Given the description of an element on the screen output the (x, y) to click on. 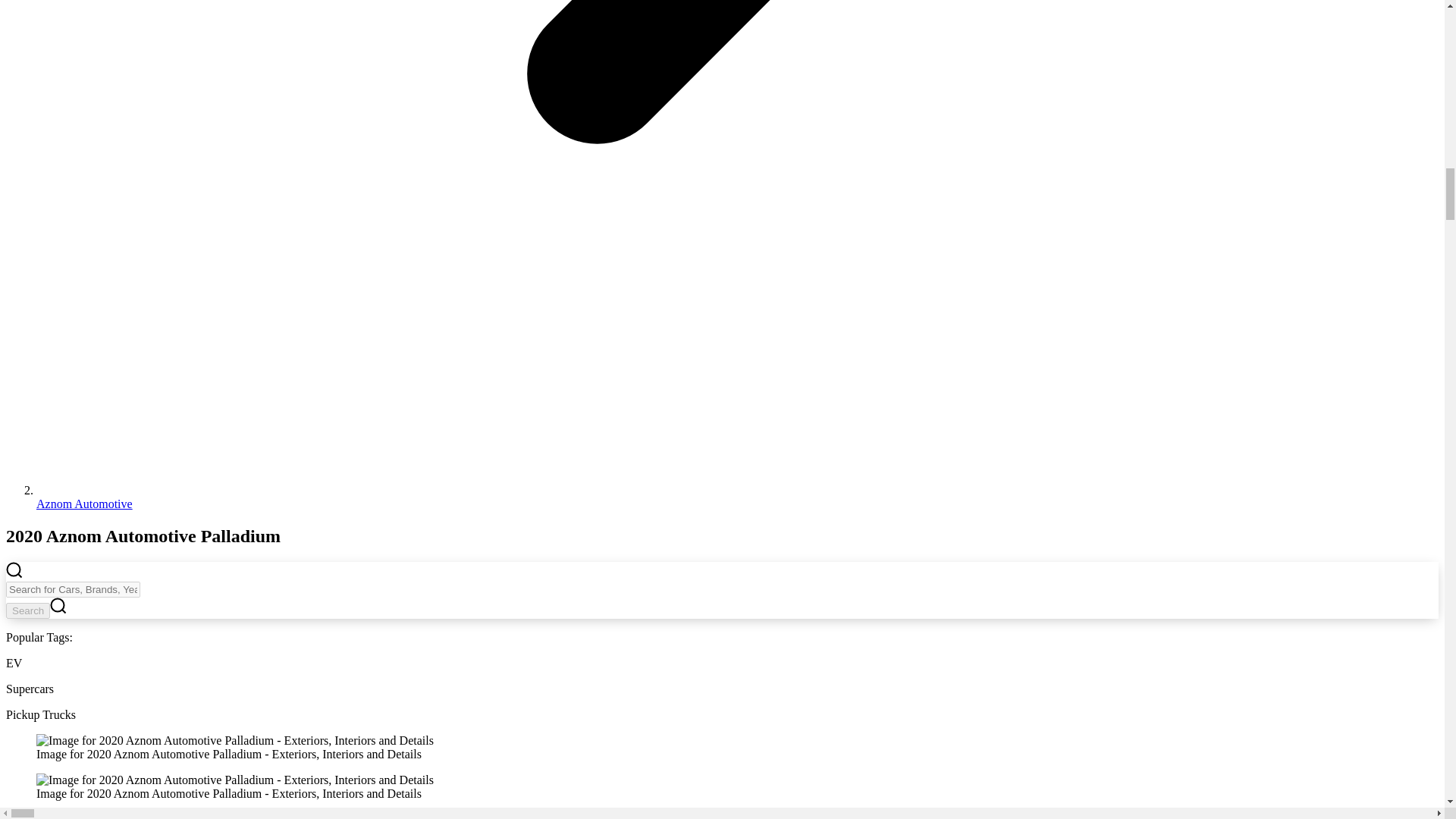
Search (27, 610)
Aznom Automotive (84, 503)
